Given the description of an element on the screen output the (x, y) to click on. 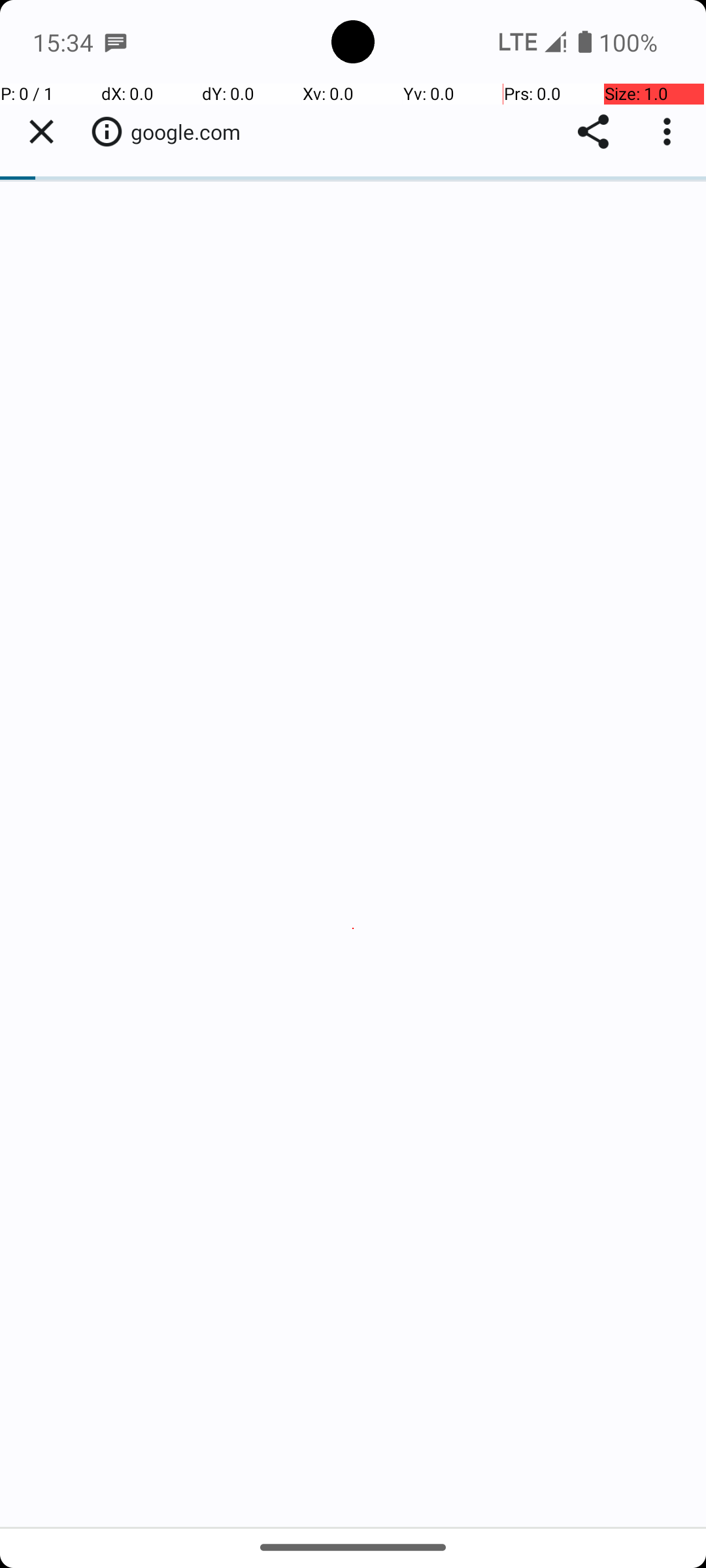
SMS Messenger notification: +15505050843 Element type: android.widget.ImageView (115, 41)
